Given the description of an element on the screen output the (x, y) to click on. 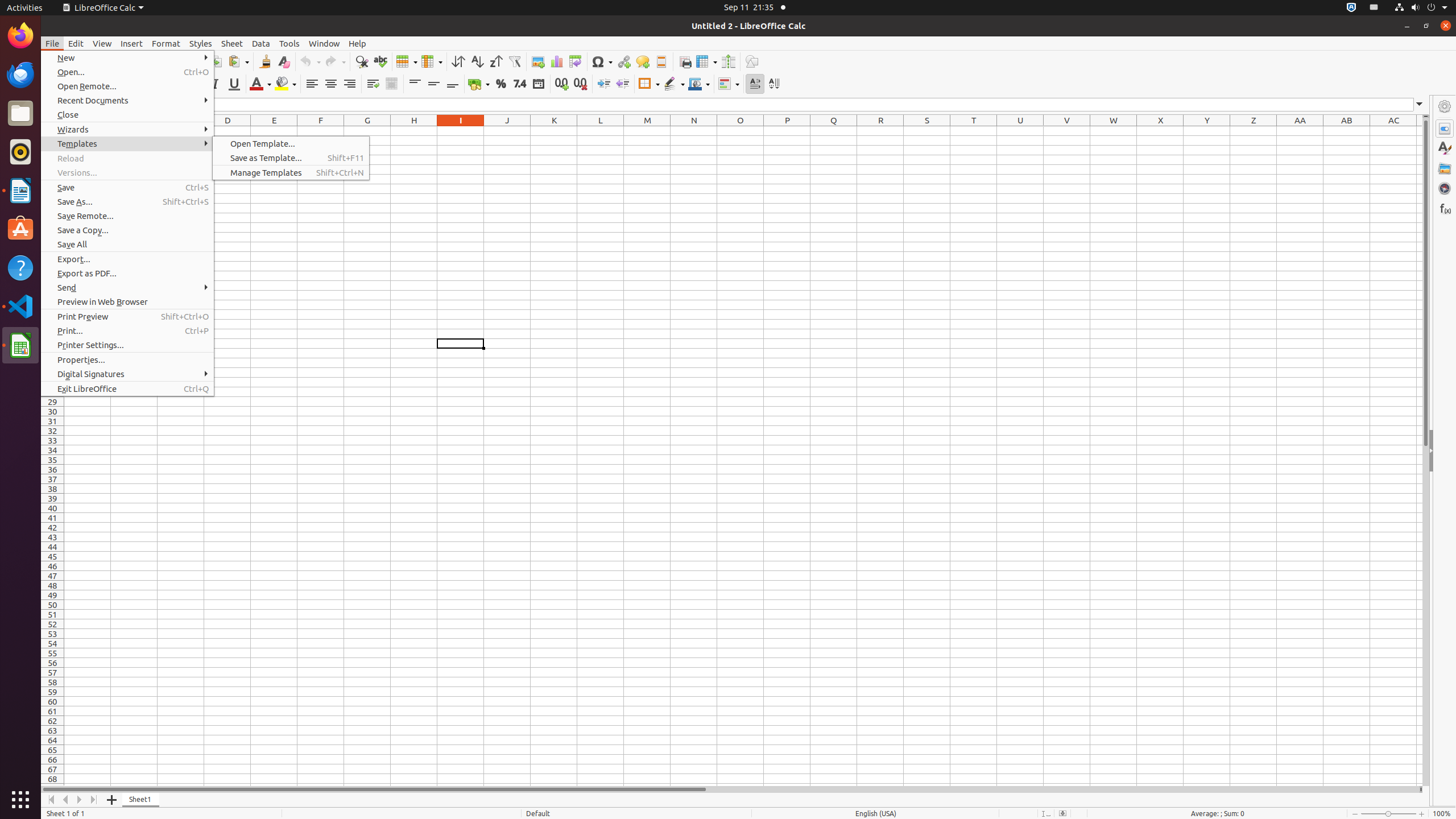
Properties Element type: radio-button (1444, 128)
Data Element type: menu (260, 43)
Y1 Element type: table-cell (1206, 130)
Recent Documents Element type: menu (126, 100)
Send Element type: menu (126, 287)
